Given the description of an element on the screen output the (x, y) to click on. 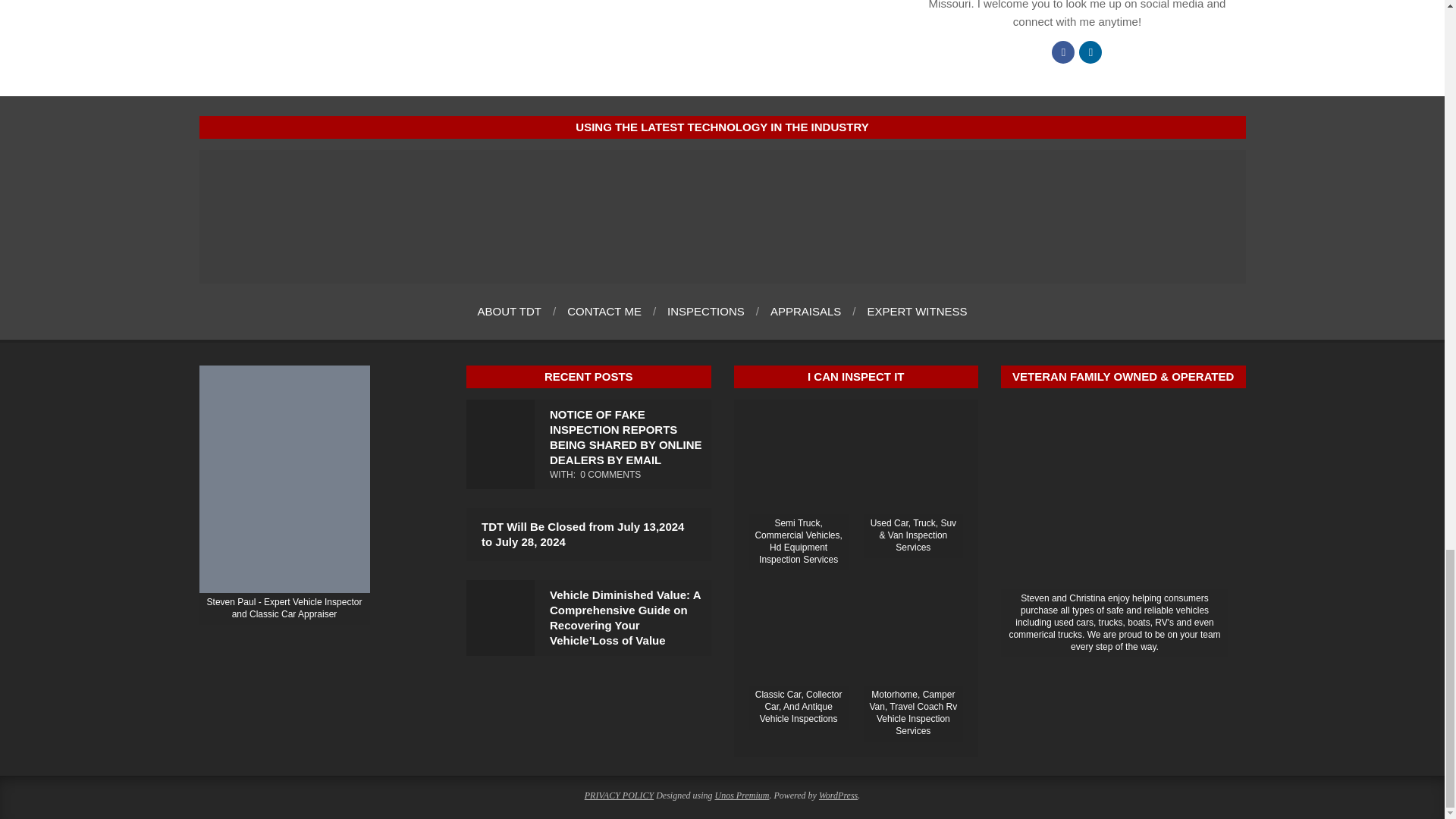
Unos Premium WordPress Theme (741, 795)
